Given the description of an element on the screen output the (x, y) to click on. 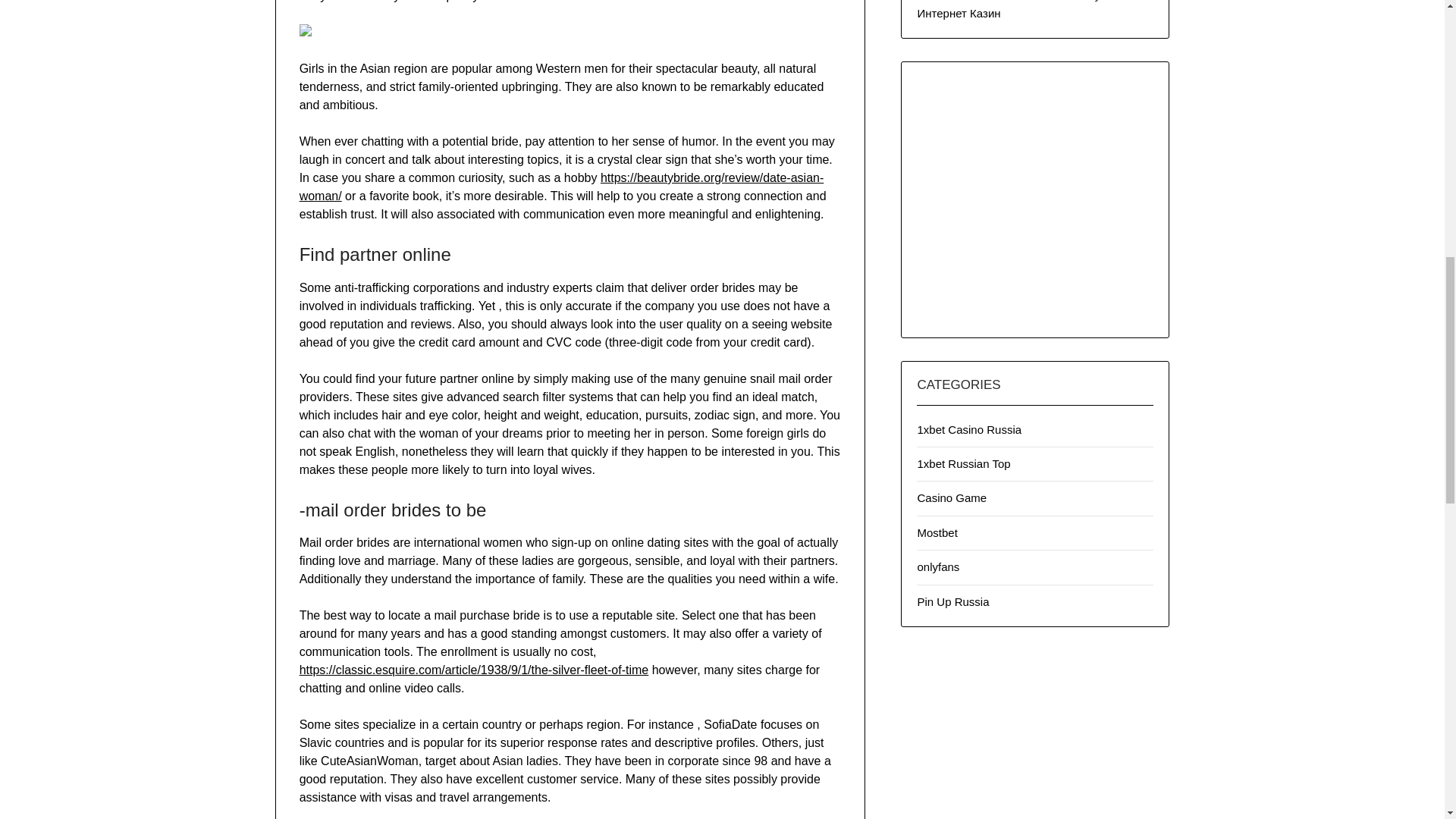
Pin Up Russia (952, 601)
YouTube video player (1035, 196)
Casino Game (952, 497)
Mostbet (936, 532)
1xbet Casino Russia (969, 429)
onlyfans (938, 566)
1xbet Russian Top (963, 463)
